Given the description of an element on the screen output the (x, y) to click on. 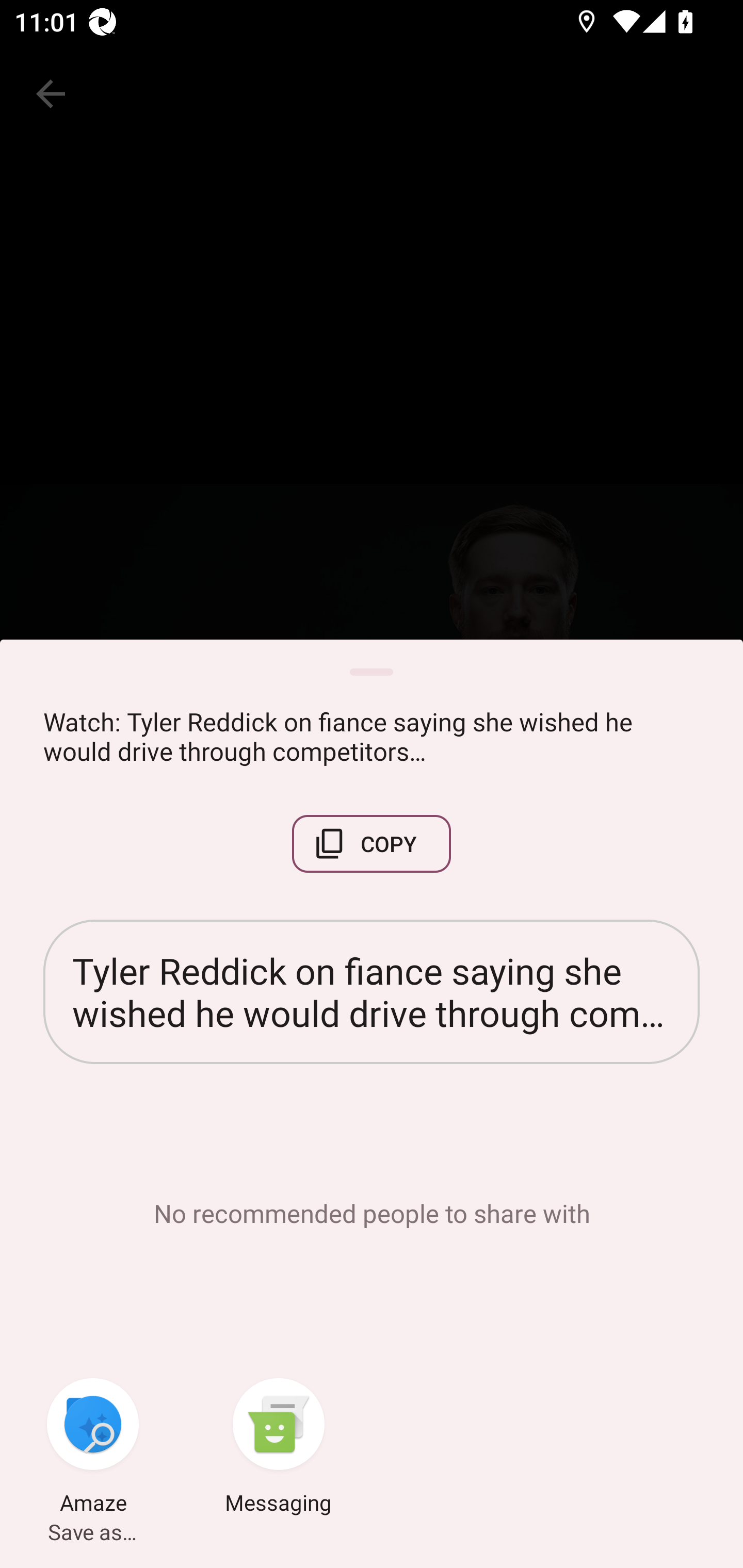
COPY (371, 844)
Amaze Save as… (92, 1448)
Messaging (278, 1448)
